Given the description of an element on the screen output the (x, y) to click on. 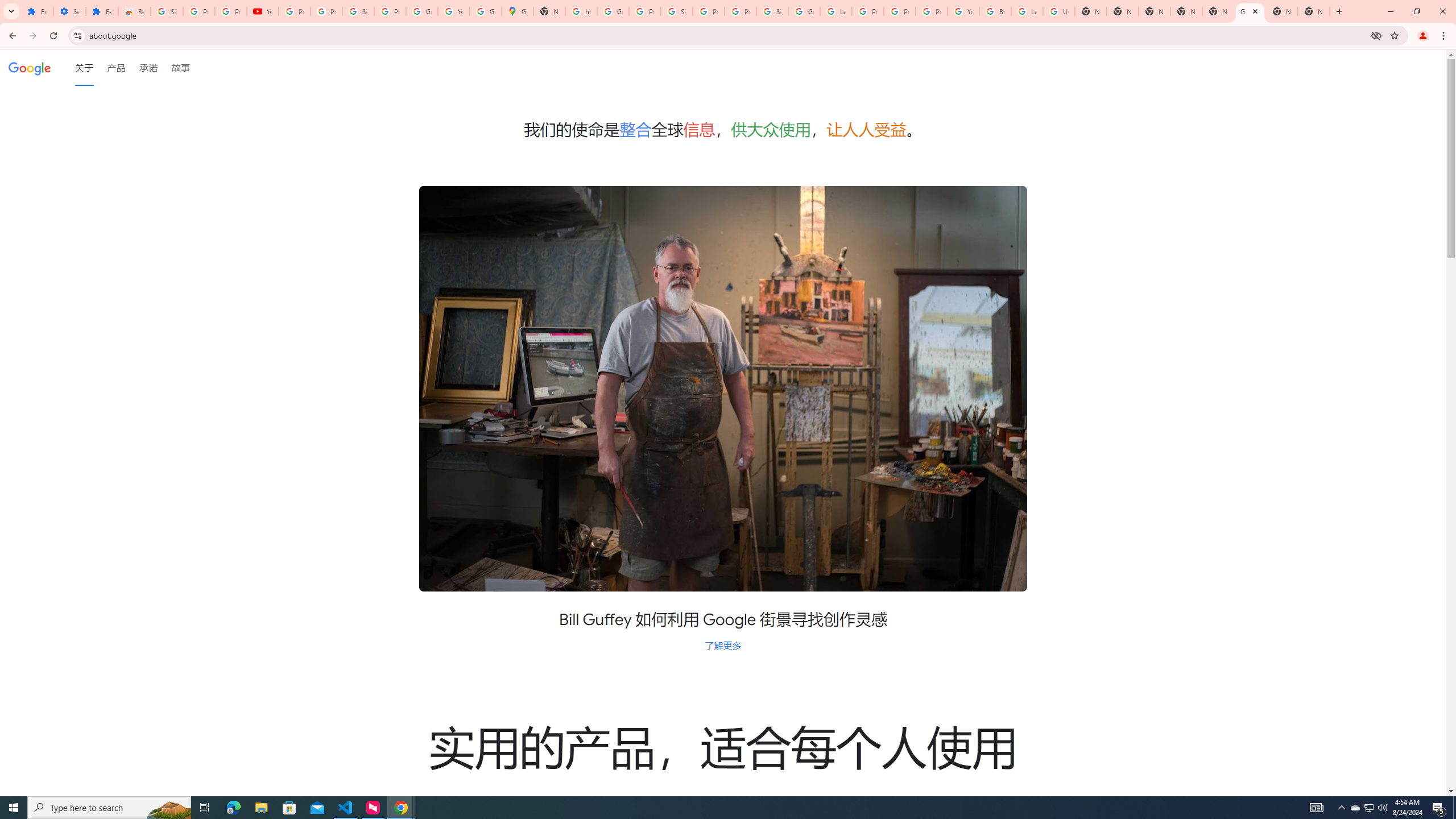
Reviews: Helix Fruit Jump Arcade Game (134, 11)
Sign in - Google Accounts (358, 11)
Sign in - Google Accounts (676, 11)
Extensions (101, 11)
